Given the description of an element on the screen output the (x, y) to click on. 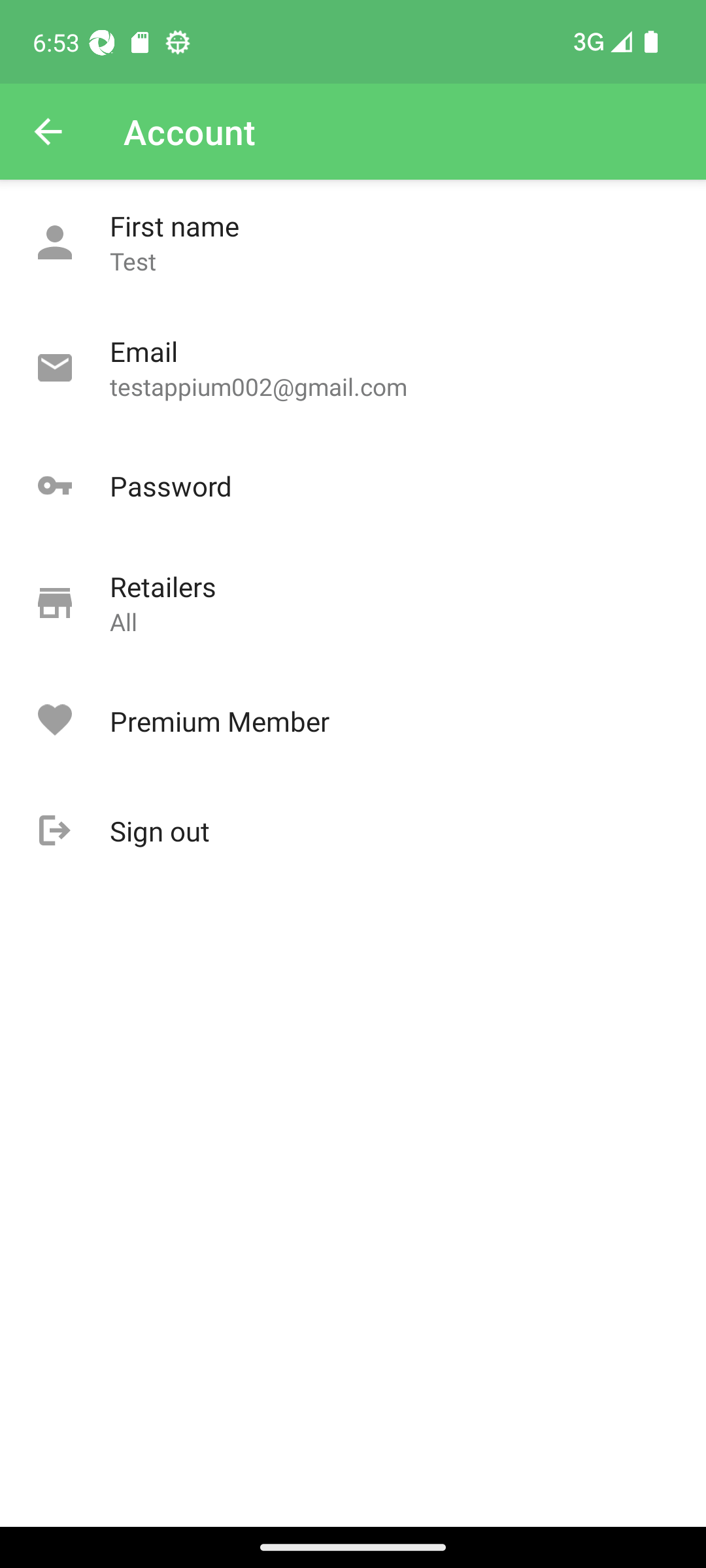
Navigate up (48, 131)
First name Test (353, 242)
Email testappium002@gmail.com (353, 368)
Password (353, 485)
Retailers All (353, 603)
Premium Member (353, 721)
Sign out (353, 830)
